Given the description of an element on the screen output the (x, y) to click on. 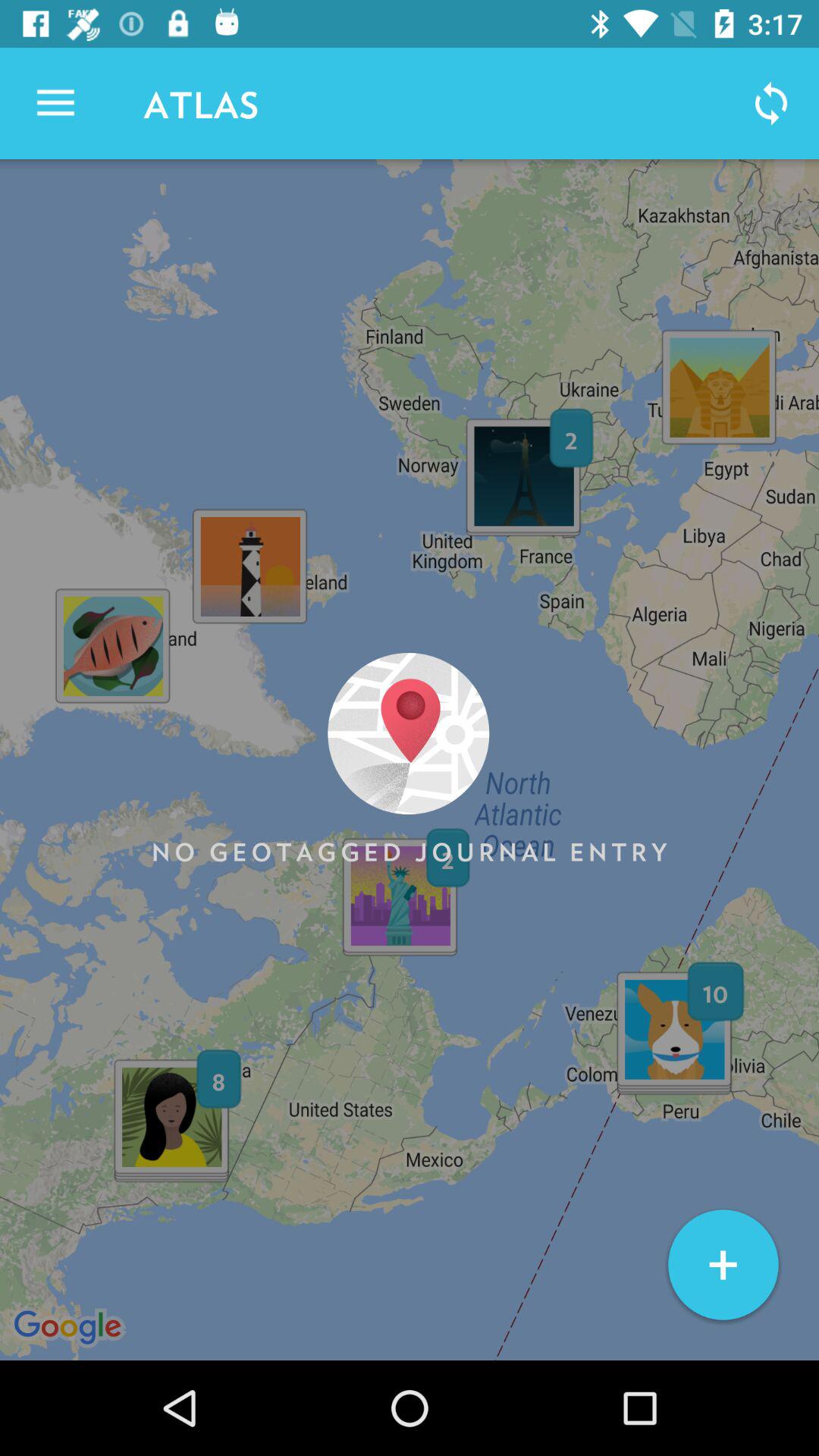
turn off icon to the right of atlas icon (771, 103)
